Given the description of an element on the screen output the (x, y) to click on. 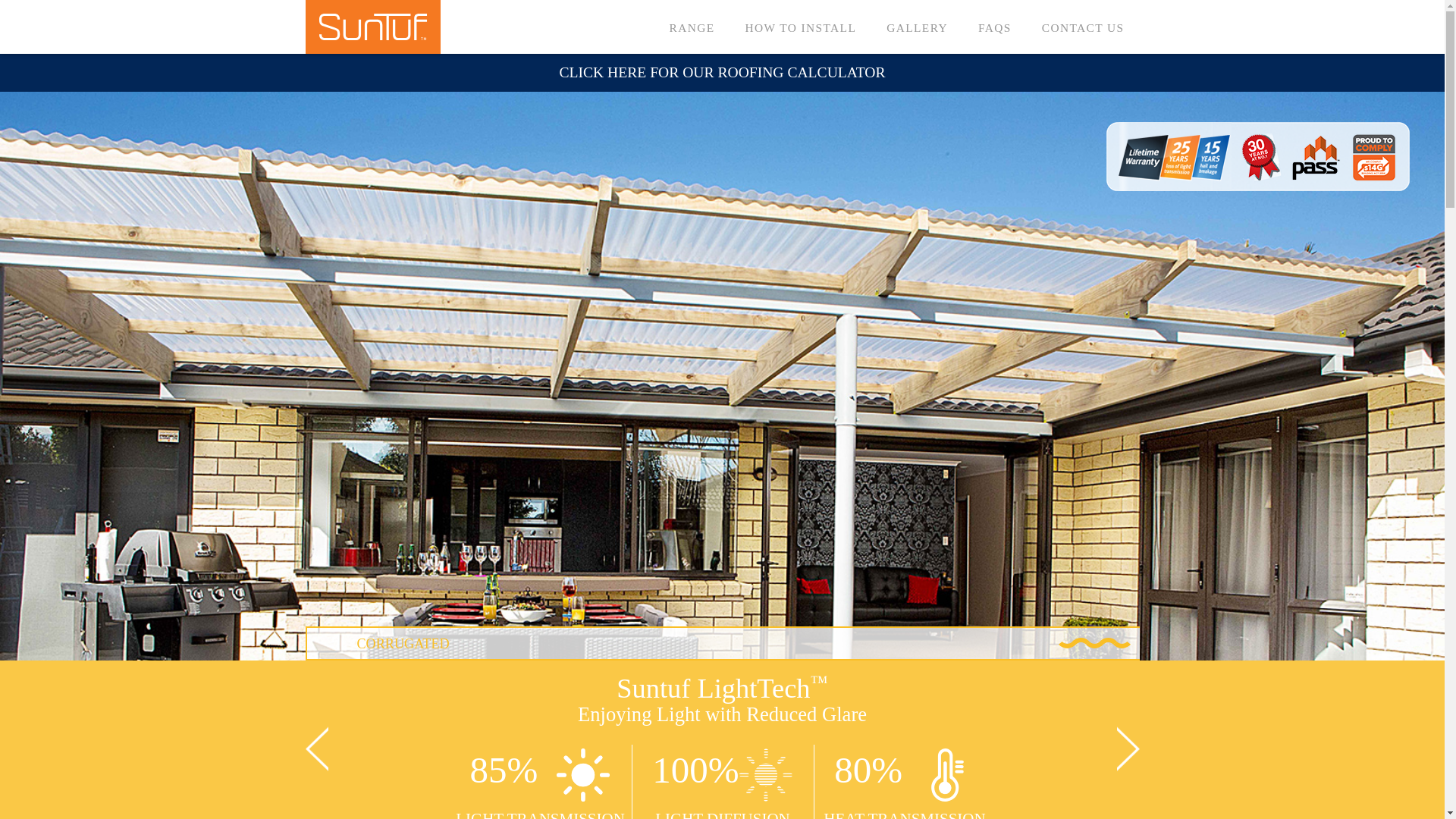
GALLERY (916, 26)
HOW TO INSTALL (801, 26)
CONTACT US (1083, 26)
CORRUGATED (721, 643)
